Given the description of an element on the screen output the (x, y) to click on. 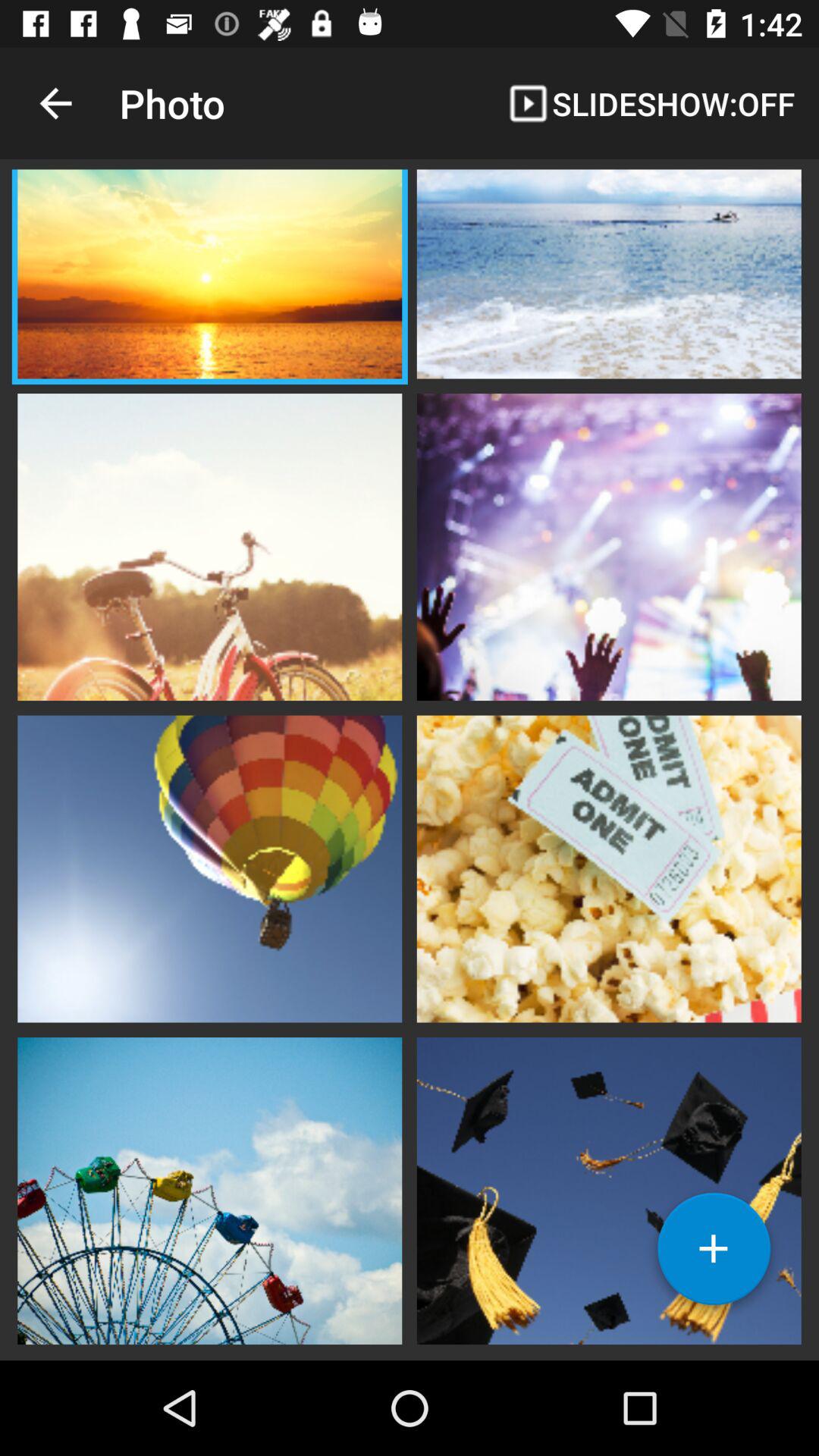
opens picture (209, 867)
